Given the description of an element on the screen output the (x, y) to click on. 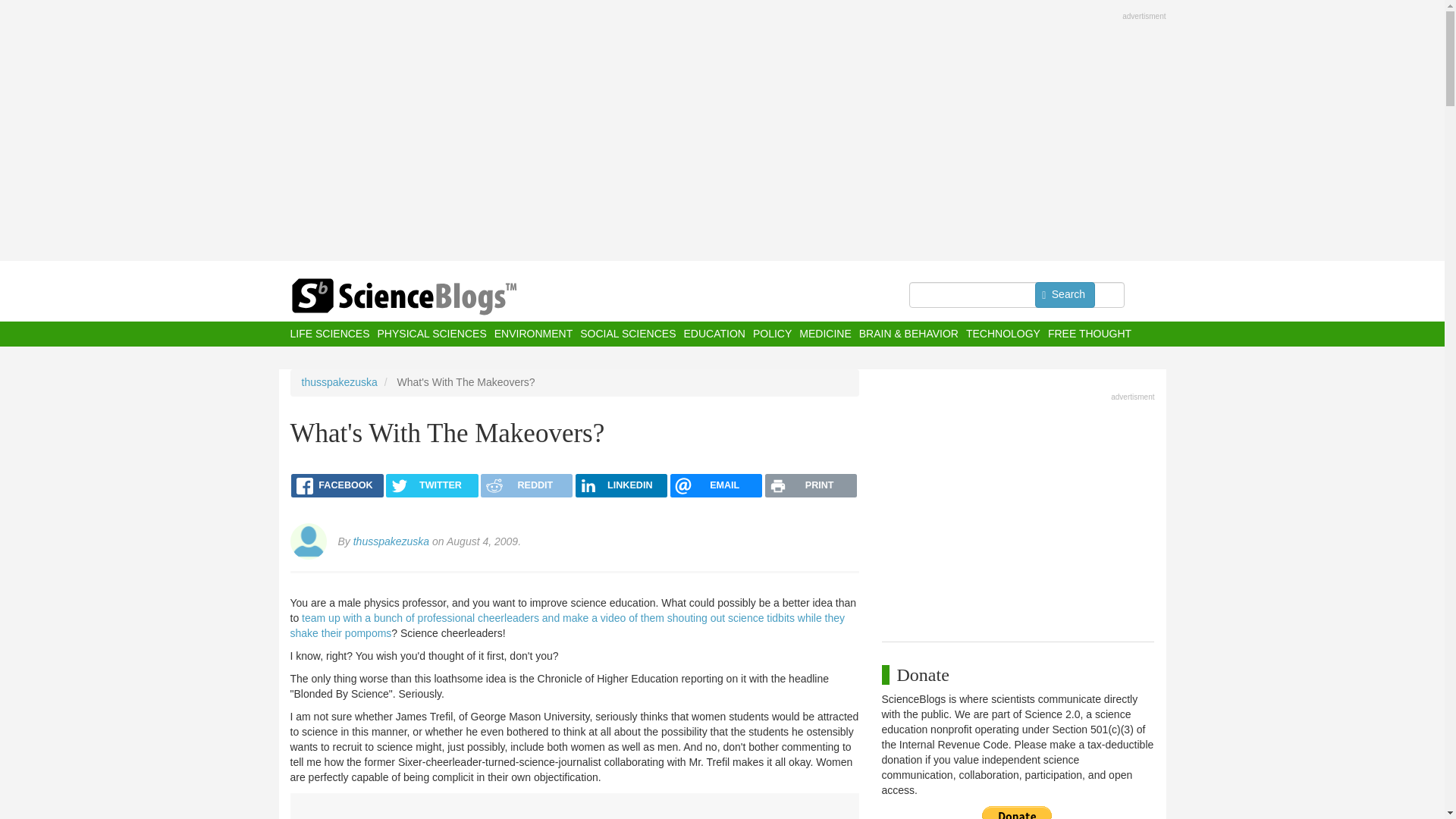
LIFE SCIENCES (329, 334)
Advertisement (1017, 512)
Home (433, 296)
thusspakezuska (339, 381)
SOCIAL SCIENCES (627, 334)
thusspakezuska (391, 541)
FACEBOOK (336, 485)
REDDIT (526, 485)
EMAIL (715, 485)
TWITTER (431, 485)
PayPal - The safer, easier way to pay online! (1016, 812)
Search (1064, 294)
EDUCATION (713, 334)
ENVIRONMENT (533, 334)
